Given the description of an element on the screen output the (x, y) to click on. 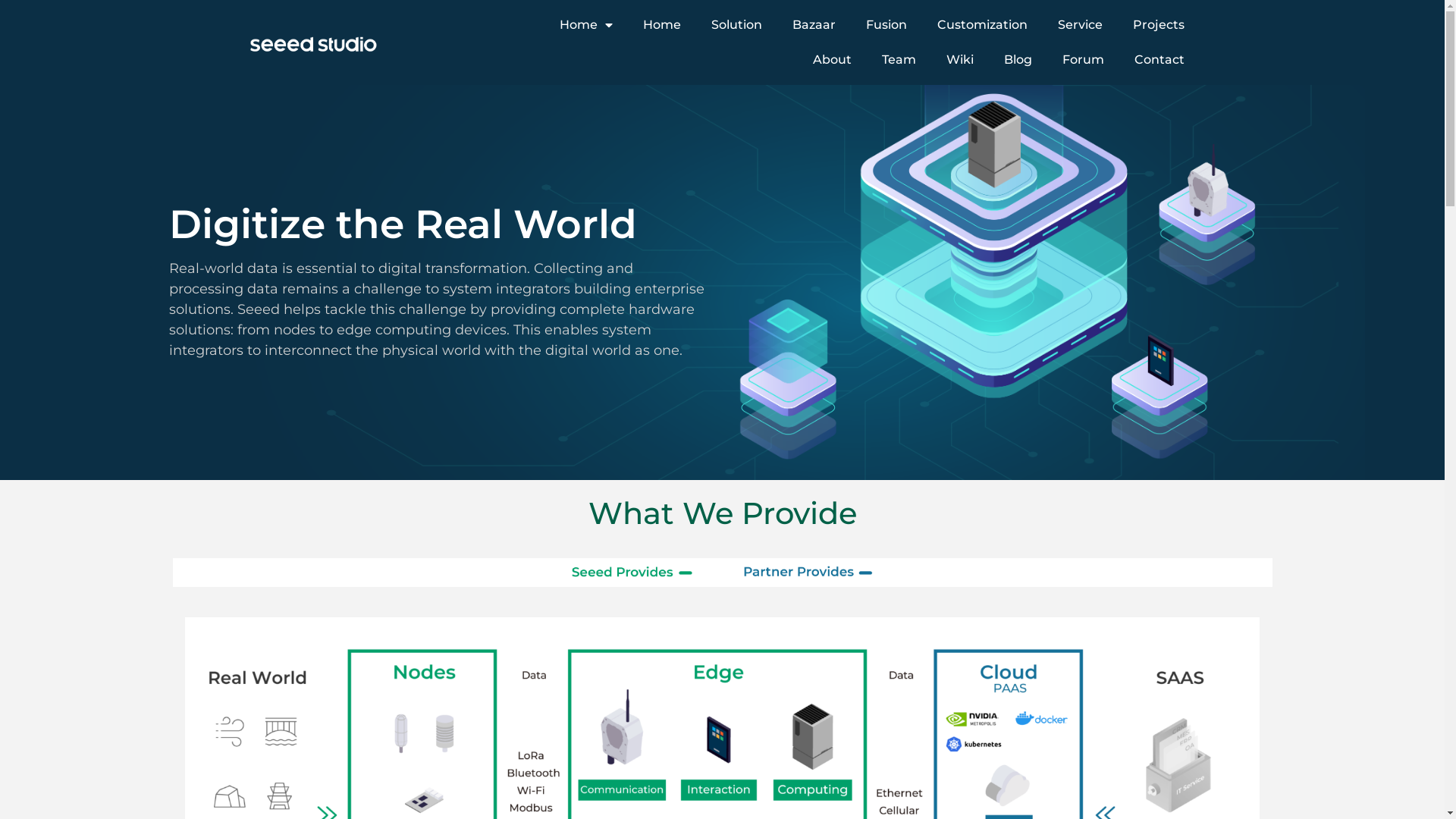
Home Element type: text (661, 24)
Blog Element type: text (1017, 59)
Team Element type: text (898, 59)
About Element type: text (831, 59)
Projects Element type: text (1158, 24)
Home Element type: text (585, 24)
Bazaar Element type: text (813, 24)
Forum Element type: text (1083, 59)
Contact Element type: text (1159, 59)
Solution Element type: text (736, 24)
Customization Element type: text (982, 24)
Service Element type: text (1079, 24)
Wiki Element type: text (959, 59)
Fusion Element type: text (886, 24)
